Given the description of an element on the screen output the (x, y) to click on. 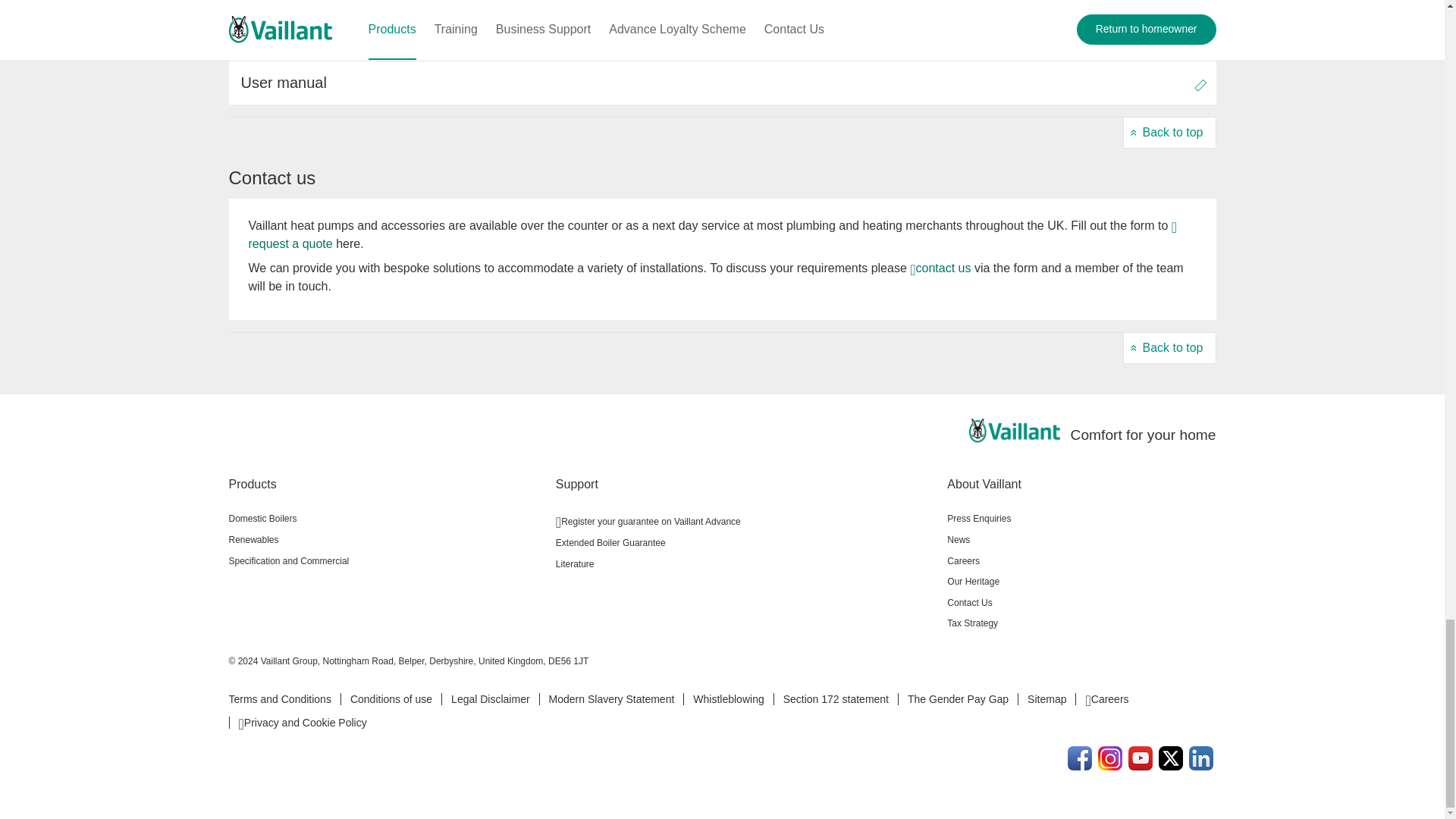
Instagram (1109, 758)
Youtube (1140, 758)
Vaillant (1015, 430)
Facebook (1079, 758)
